Given the description of an element on the screen output the (x, y) to click on. 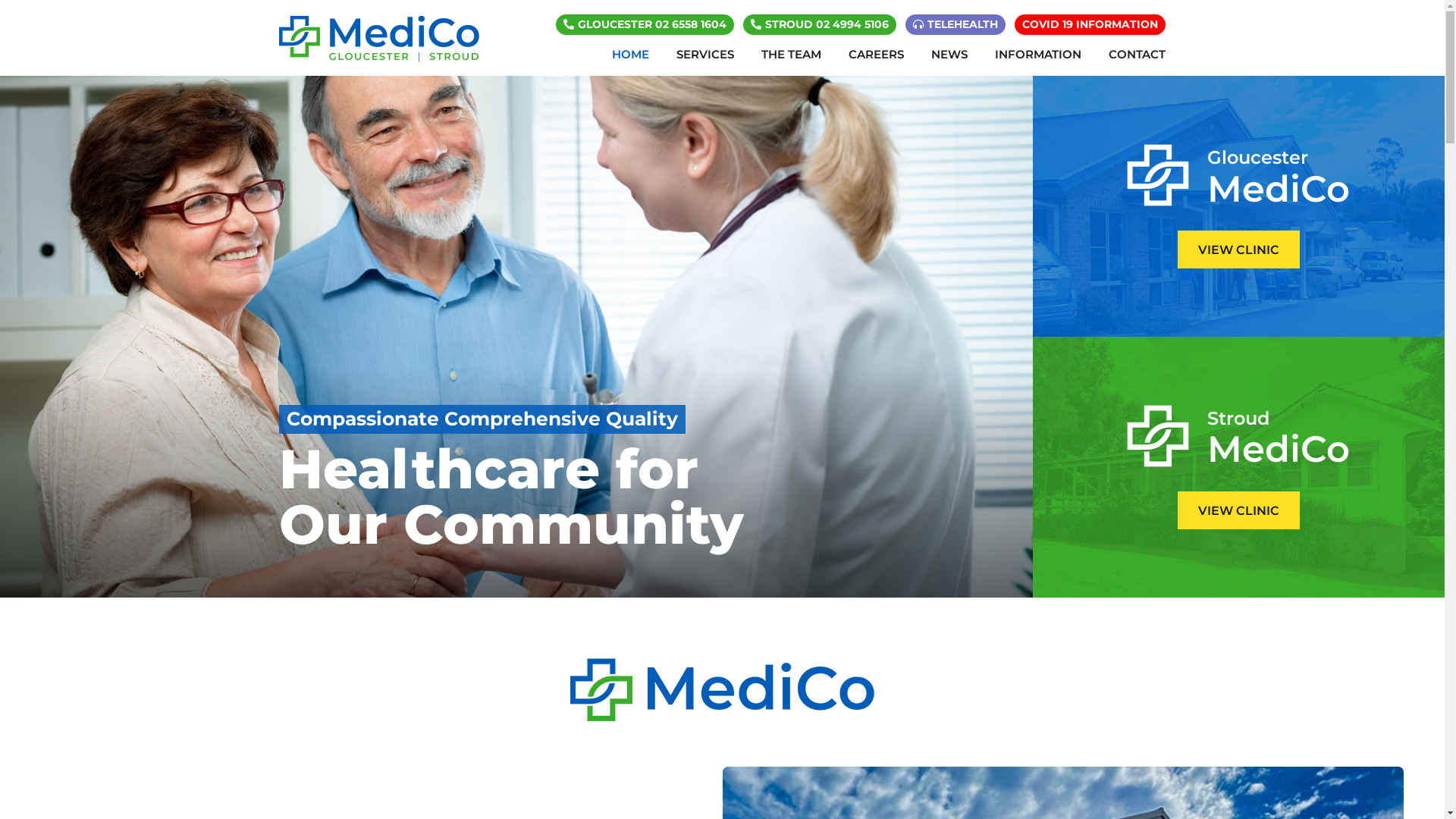
NEWS Element type: text (949, 54)
CONTACT Element type: text (1130, 54)
TELEHEALTH Element type: text (955, 24)
GLOUCESTER 02 6558 1604 Element type: text (644, 24)
CAREERS Element type: text (875, 54)
THE TEAM Element type: text (790, 54)
SERVICES Element type: text (704, 54)
Stroud MediCo
VIEW CLINIC Element type: text (1238, 466)
HOME Element type: text (630, 54)
INFORMATION Element type: text (1038, 54)
STROUD 02 4994 5106 Element type: text (819, 24)
COVID 19 INFORMATION Element type: text (1089, 24)
Gloucester MediCo
VIEW CLINIC Element type: text (1238, 205)
